Given the description of an element on the screen output the (x, y) to click on. 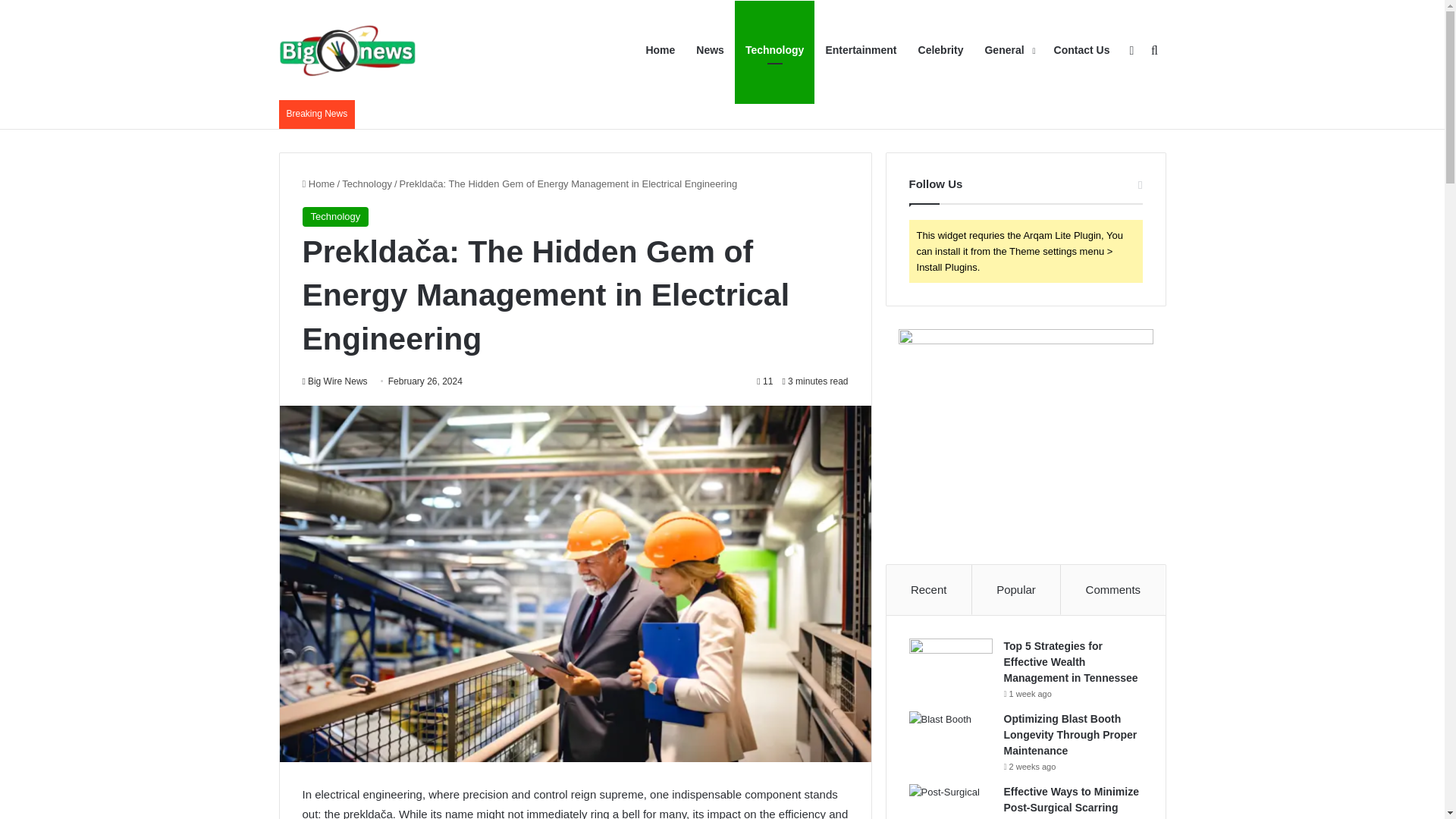
Home (317, 183)
Technology (366, 183)
Big Wire News (347, 50)
Entertainment (860, 49)
Technology (334, 216)
